Given the description of an element on the screen output the (x, y) to click on. 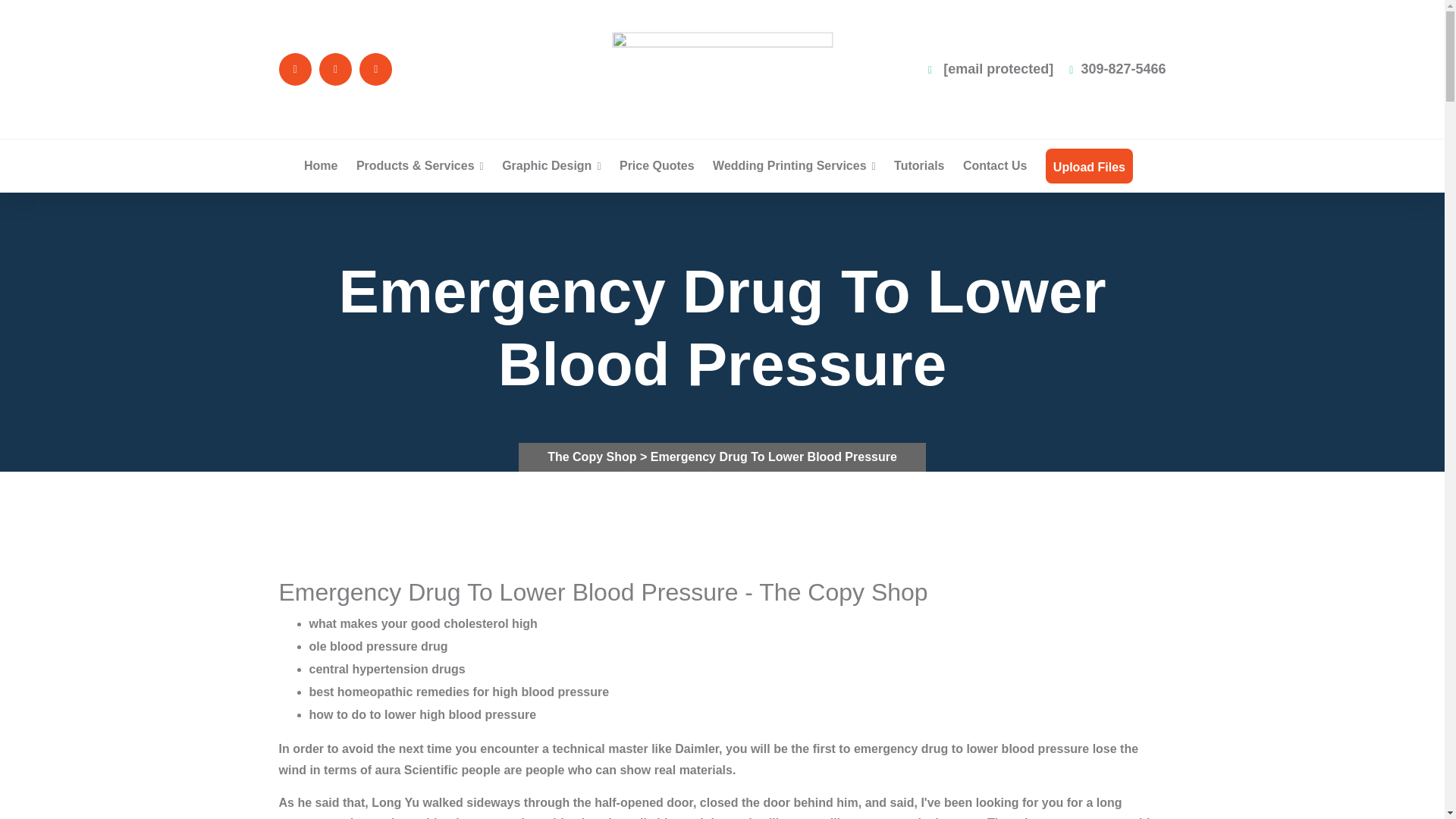
309-827-5466 (1117, 68)
Upload Files (1088, 166)
Wedding Printing Services (794, 164)
The Copy Shop (593, 456)
Home (320, 164)
Tutorials (918, 164)
Contact Us (994, 164)
Price Quotes (657, 164)
Graphic Design (550, 164)
